Given the description of an element on the screen output the (x, y) to click on. 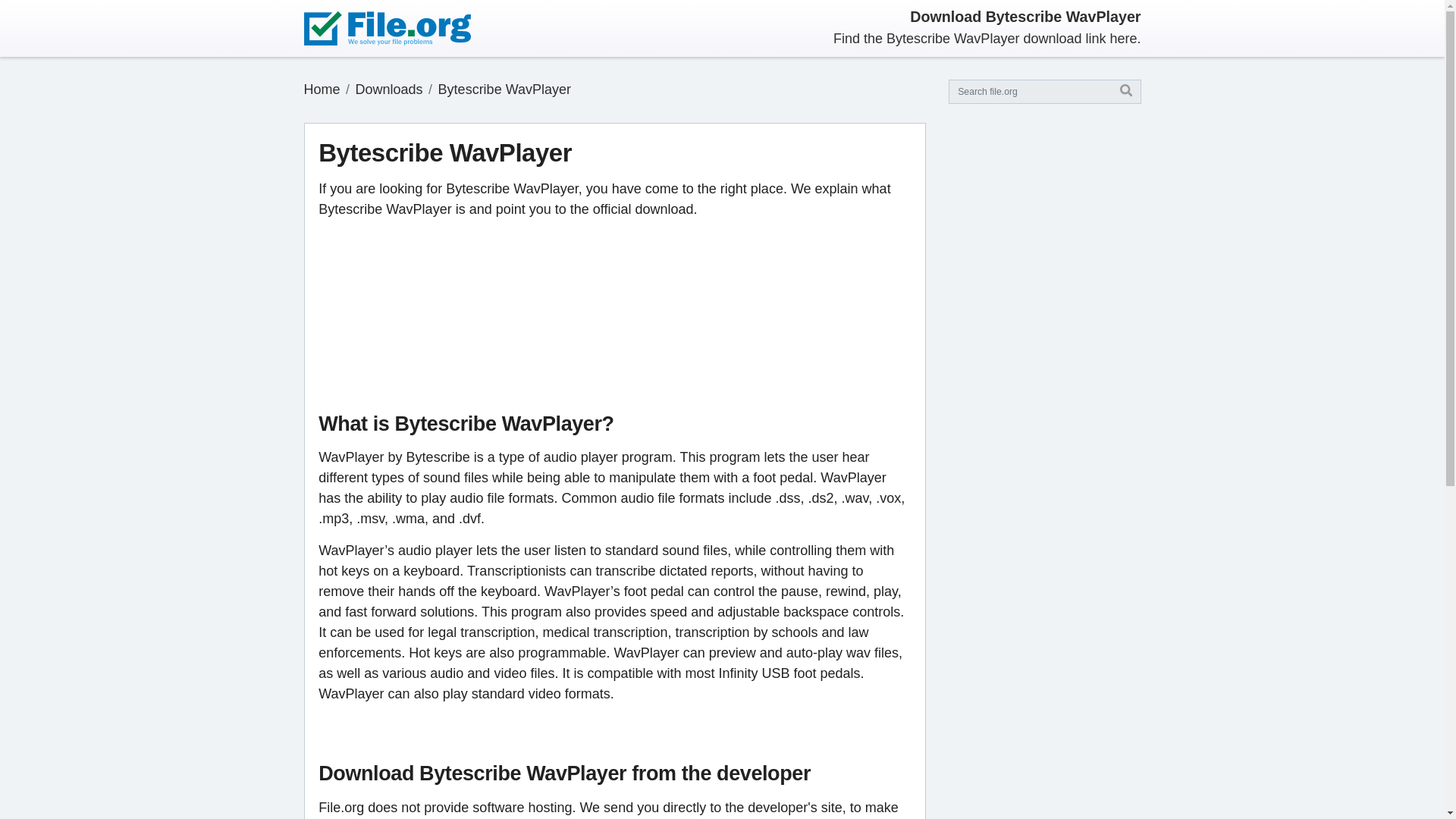
Home (320, 89)
Bytescribe WavPlayer (504, 89)
Downloads (389, 89)
File.org (320, 89)
Bytescribe WavPlayer (504, 89)
Downloads (389, 89)
